Given the description of an element on the screen output the (x, y) to click on. 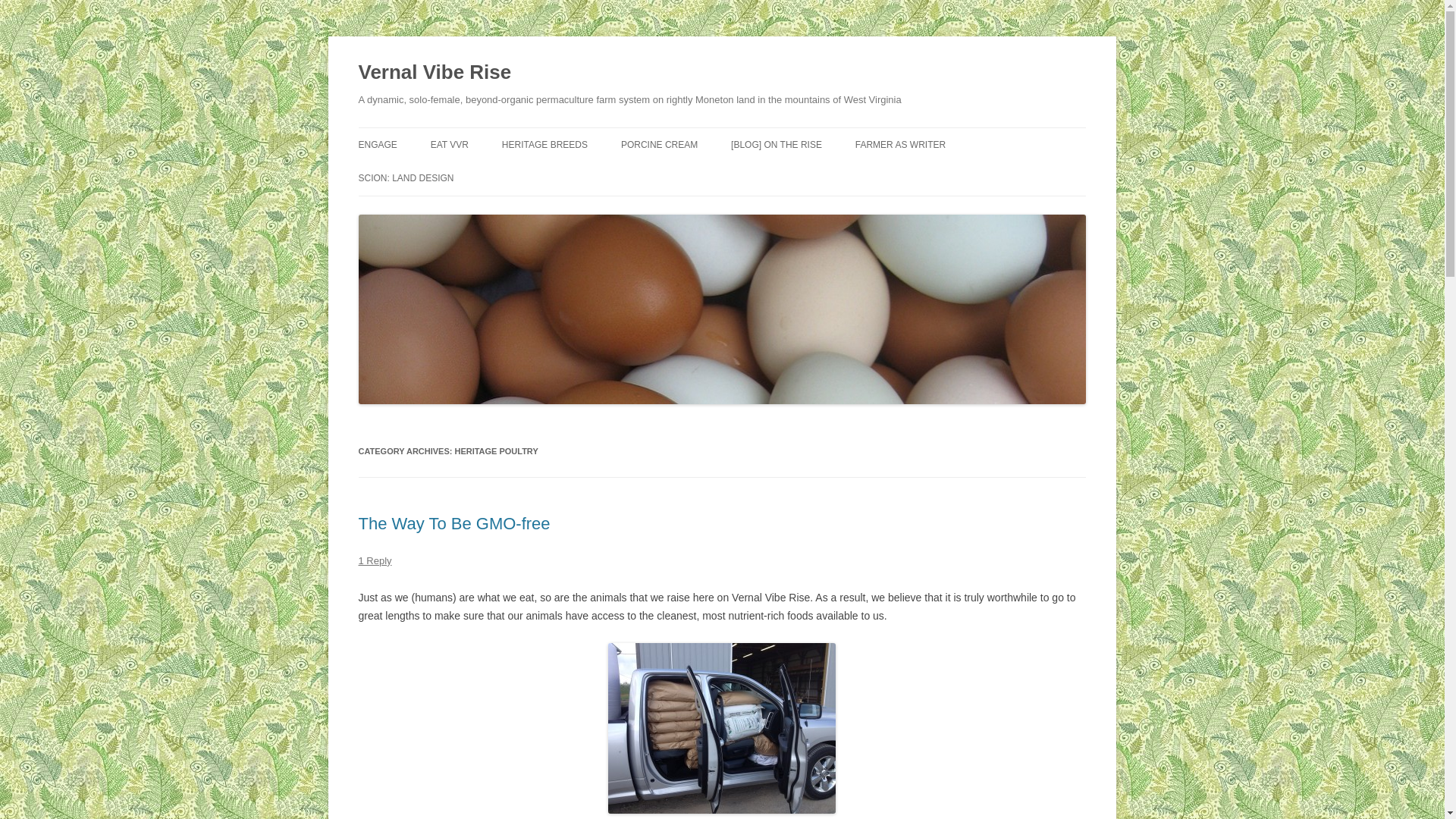
SCION: LAND DESIGN (405, 177)
The Way To Be GMO-free (454, 523)
BUY ONLINE (506, 176)
EAT VVR (449, 144)
1 Reply (374, 560)
PUBLISHED WORK (931, 176)
VVR ETHICS (433, 176)
ENGAGE (377, 144)
LARD LIPS (697, 176)
PORCINE CREAM (659, 144)
